Given the description of an element on the screen output the (x, y) to click on. 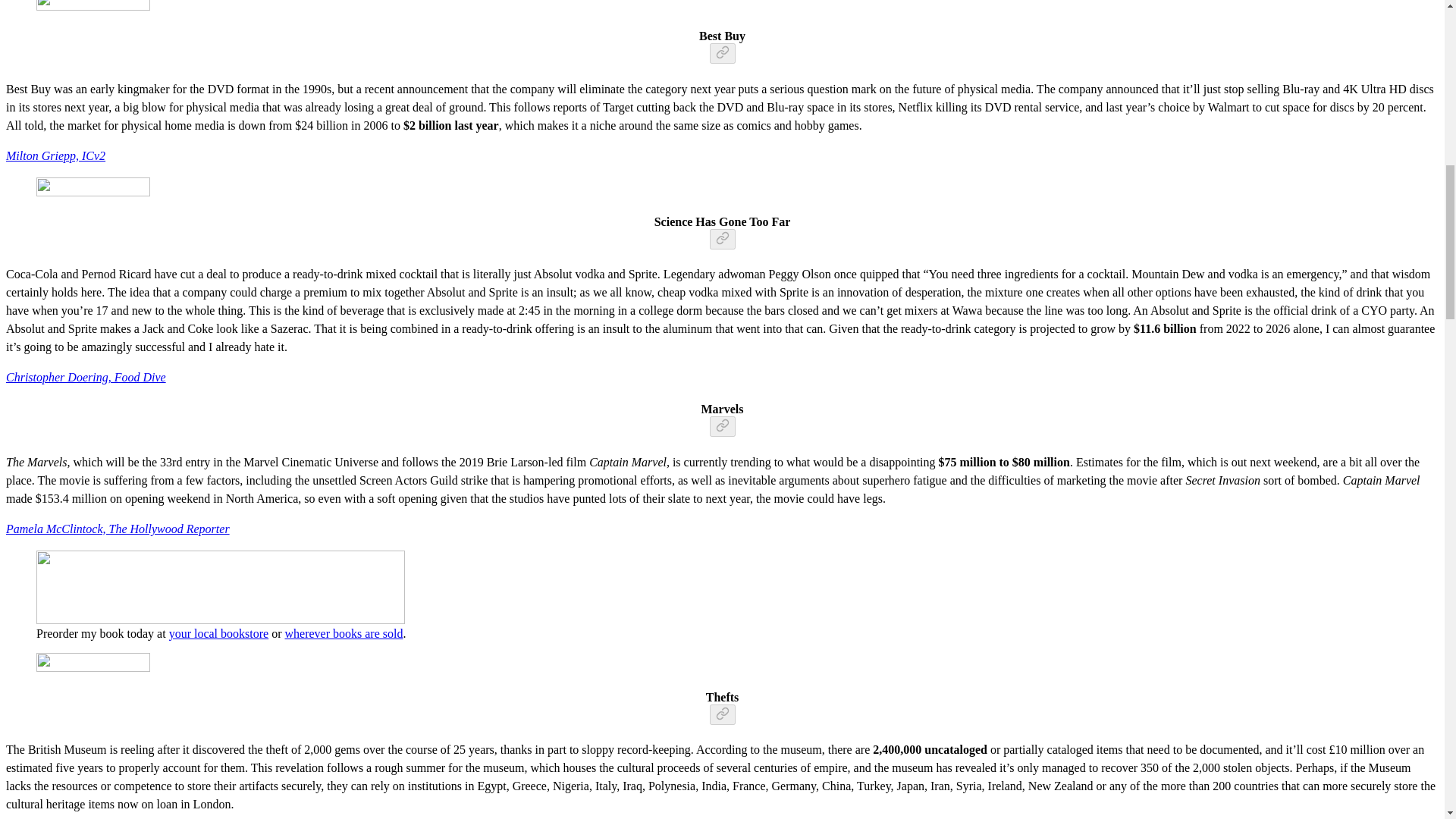
Milton Griepp, ICv2 (54, 155)
Pamela McClintock, The Hollywood Reporter (117, 528)
your local bookstore (218, 633)
wherever books are sold (343, 633)
Christopher Doering, Food Dive (85, 377)
